Given the description of an element on the screen output the (x, y) to click on. 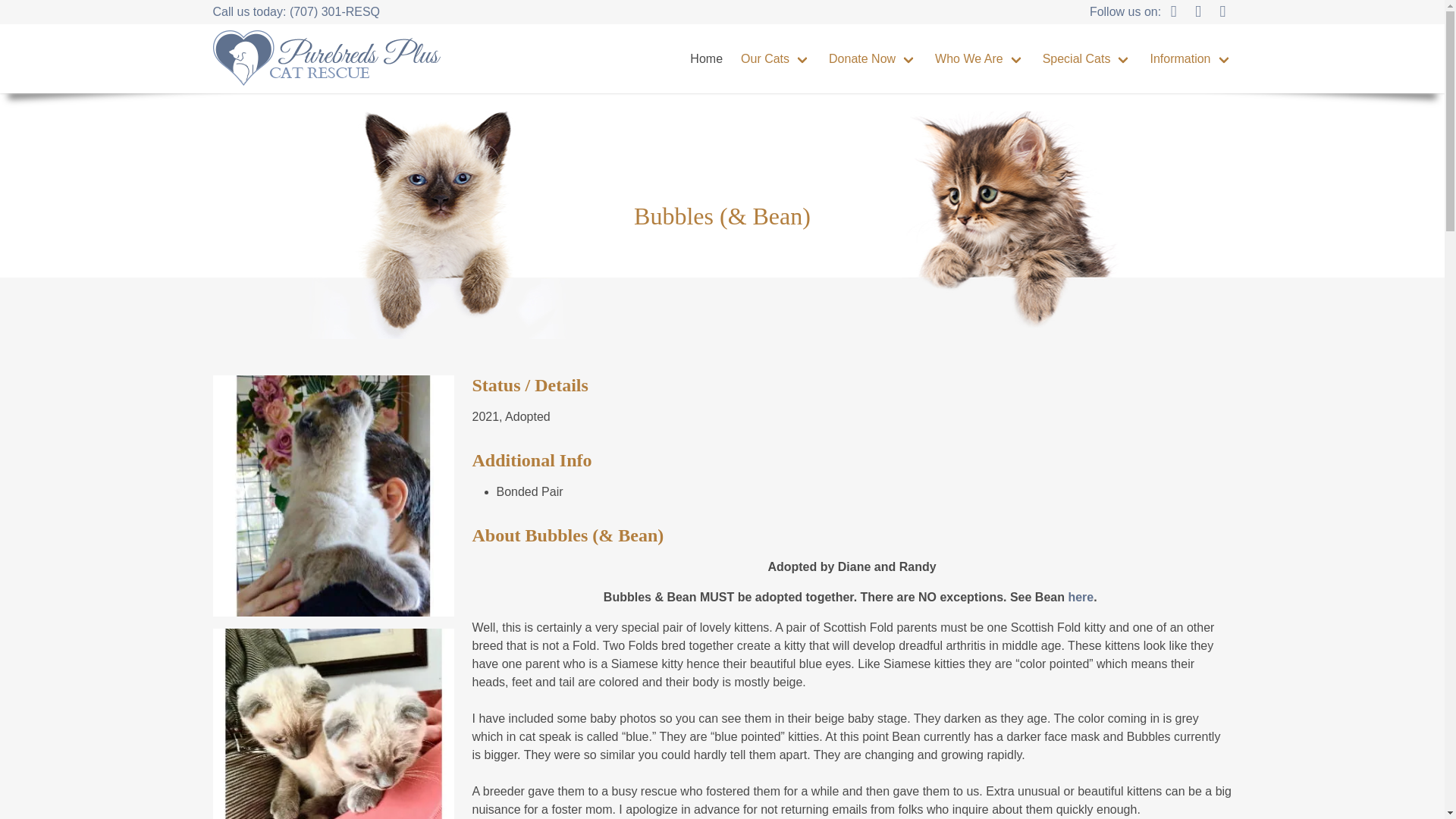
here (1080, 596)
Information (1190, 58)
Donate Now (872, 58)
Who We Are (979, 58)
Our Cats (775, 58)
Special Cats (1087, 58)
